Given the description of an element on the screen output the (x, y) to click on. 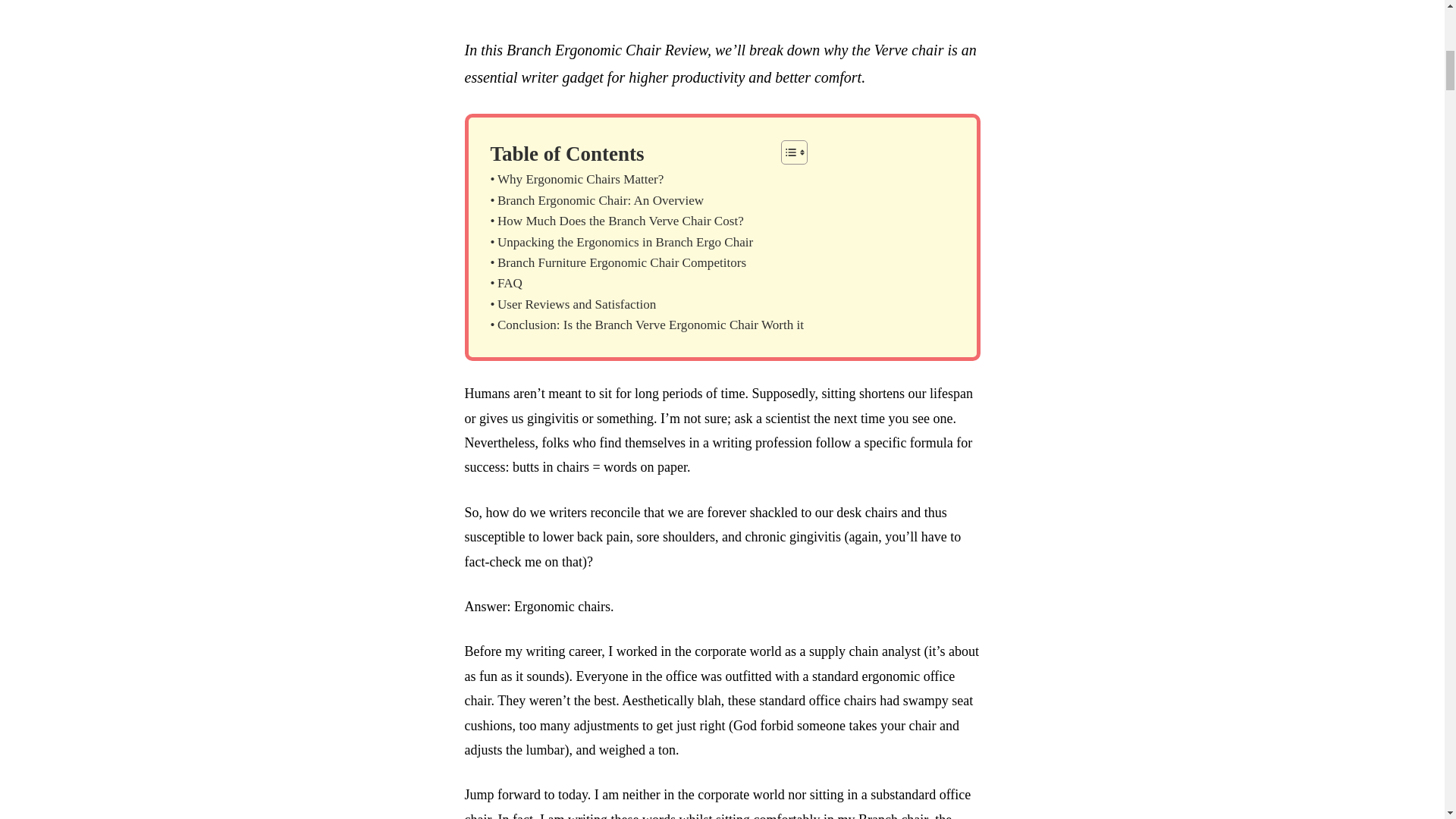
How Much Does the Branch Verve Chair Cost? (615, 220)
Scroll back to top (1406, 720)
Branch Ergonomic Chair: An Overview (596, 200)
Conclusion: Is the Branch Verve Ergonomic Chair Worth it (646, 324)
Why Ergonomic Chairs Matter? (576, 178)
Branch Furniture Ergonomic Chair Competitors (617, 262)
How Much Does the Branch Verve Chair Cost? (615, 220)
FAQ (505, 282)
Conclusion: Is the Branch Verve Ergonomic Chair Worth it (646, 324)
Unpacking the Ergonomics in Branch Ergo Chair (620, 241)
FAQ (505, 282)
Branch Furniture Ergonomic Chair Competitors (617, 262)
User Reviews and Satisfaction (572, 304)
Branch Ergonomic Chair: An Overview (596, 200)
Why Ergonomic Chairs Matter? (576, 178)
